Given the description of an element on the screen output the (x, y) to click on. 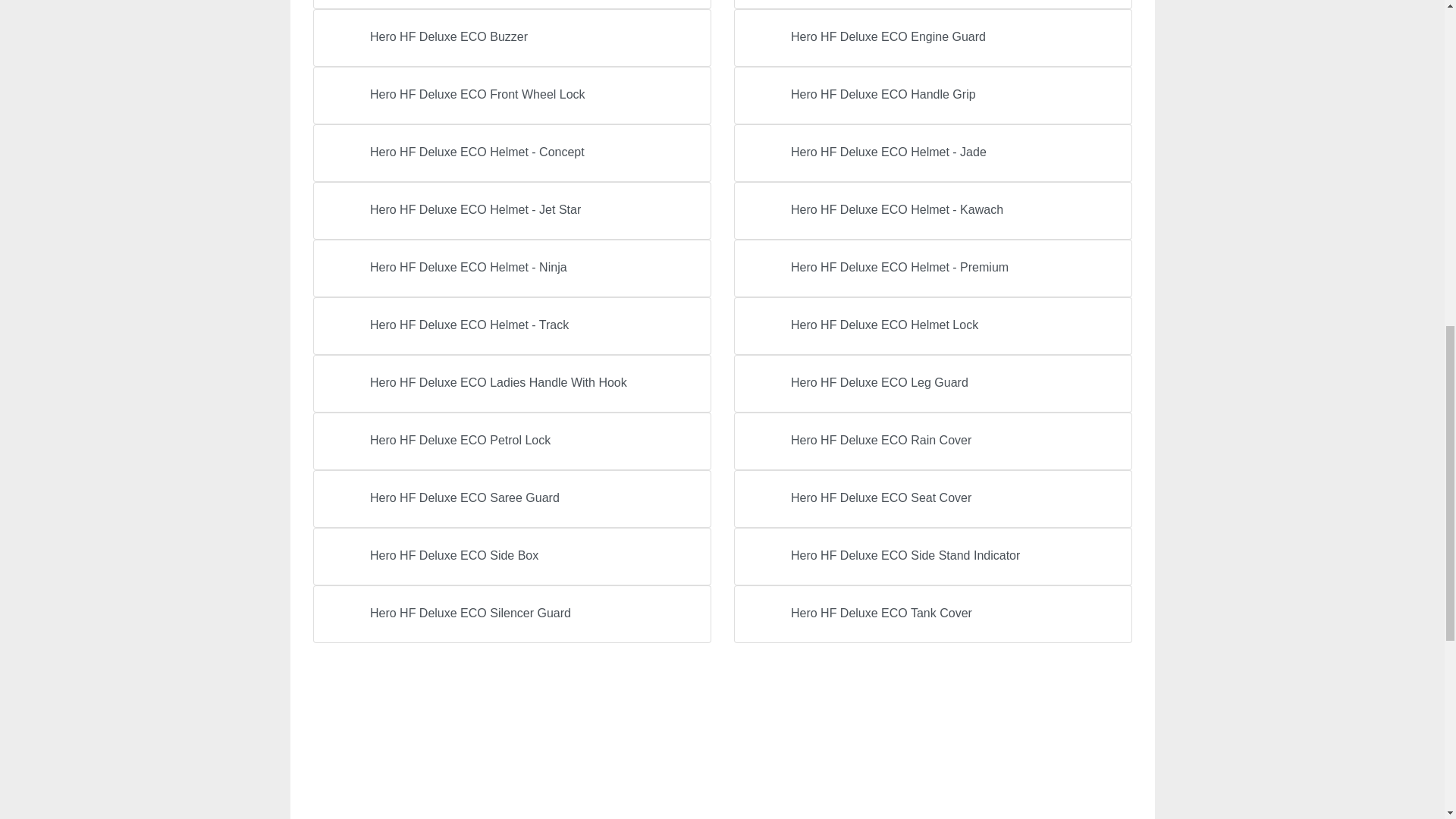
Hero HF Deluxe ECO Helmet - Jade (932, 152)
Hero HF Deluxe ECO Side Stand Indicator (932, 556)
Hero HF Deluxe ECO Silencer Guard (511, 613)
Hero HF Deluxe ECO Helmet - Jet Star (511, 210)
Hero HF Deluxe ECO Buzzer (511, 37)
Hero HF Deluxe ECO Aero Mirrors (511, 4)
Hero HF Deluxe ECO Helmet Lock (932, 325)
Hero HF Deluxe ECO Attractive New Graphics (932, 4)
Hero HF Deluxe ECO Helmet - Concept (511, 152)
Hero HF Deluxe ECO Handle Grip (932, 95)
